Given the description of an element on the screen output the (x, y) to click on. 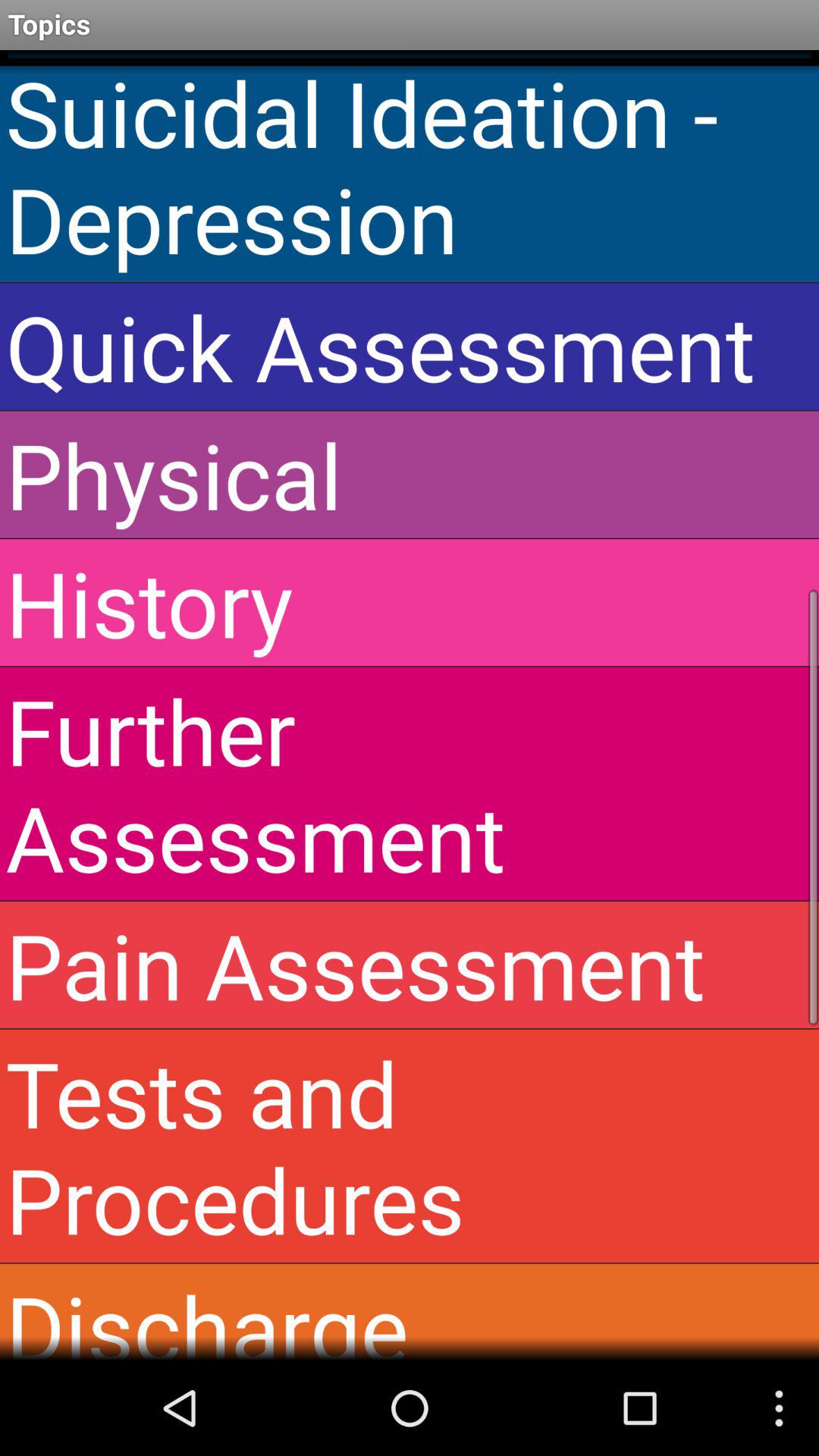
jump to suicidal ideation - depression icon (409, 166)
